Given the description of an element on the screen output the (x, y) to click on. 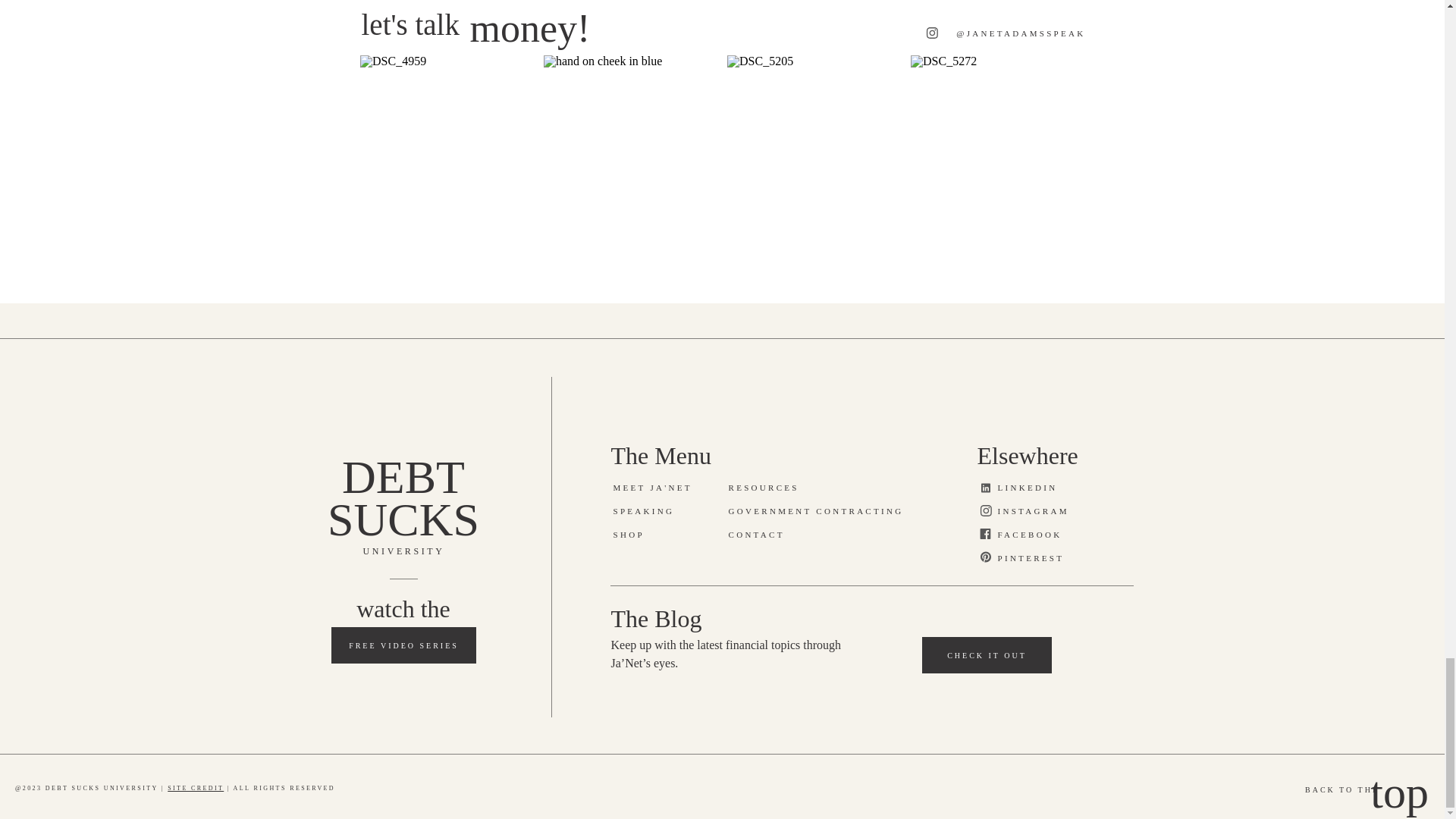
hand on cheek in blue (630, 142)
Instagram-color Created with Sketch. (985, 510)
Facebook Copy-color Created with Sketch. (985, 533)
INSTAGRAM (1040, 511)
Instagram-color Created with Sketch. (930, 32)
CHECK IT OUT (986, 663)
GOVERNMENT CONTRACTING (827, 511)
top (1399, 793)
RESOURCES (768, 488)
CONTACT (769, 535)
